Given the description of an element on the screen output the (x, y) to click on. 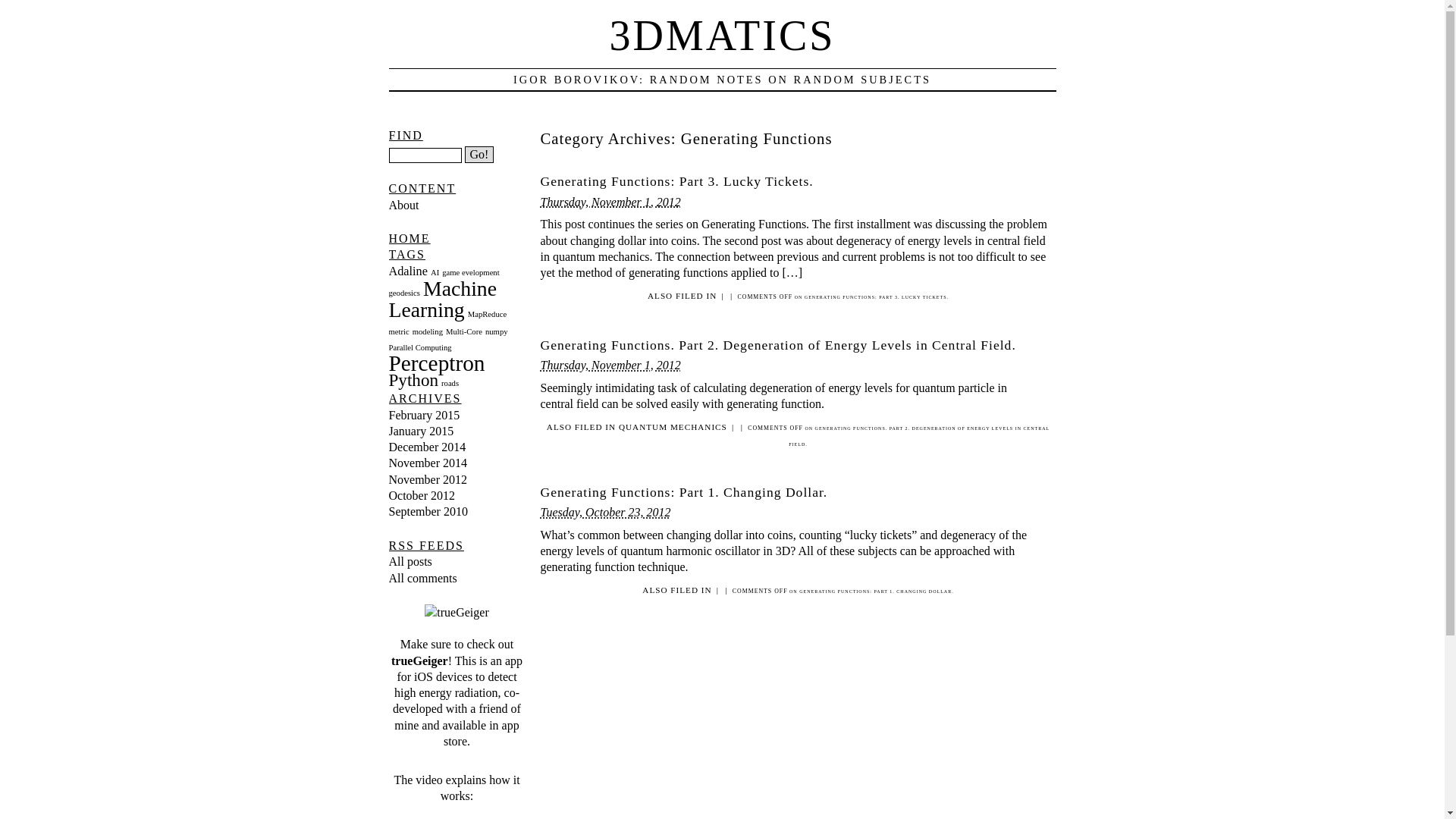
numpy Element type: text (496, 331)
September 2010 Element type: text (427, 511)
Python Element type: text (413, 379)
metric Element type: text (398, 331)
MapReduce Element type: text (487, 314)
Parallel Computing Element type: text (419, 347)
Generating Functions: Part 1. Changing Dollar. Element type: text (683, 491)
game evelopment Element type: text (470, 272)
geodesics Element type: text (403, 292)
modeling Element type: text (427, 331)
November 2014 Element type: text (427, 462)
November 2012 Element type: text (427, 479)
All comments Element type: text (422, 577)
February 2015 Element type: text (423, 414)
HOME Element type: text (408, 238)
QUANTUM MECHANICS Element type: text (672, 426)
trueGeiger Element type: text (419, 660)
January 2015 Element type: text (420, 430)
December 2014 Element type: text (426, 446)
About Element type: text (403, 204)
3DMATICS Element type: text (722, 35)
Machine Learning Element type: text (442, 298)
roads Element type: text (449, 383)
All posts Element type: text (409, 561)
Multi-Core Element type: text (463, 331)
Adaline Element type: text (407, 271)
Perceptron Element type: text (436, 363)
AI Element type: text (434, 272)
Go! Element type: text (478, 154)
October 2012 Element type: text (421, 495)
Generating Functions: Part 3. Lucky Tickets. Element type: text (675, 180)
